Given the description of an element on the screen output the (x, y) to click on. 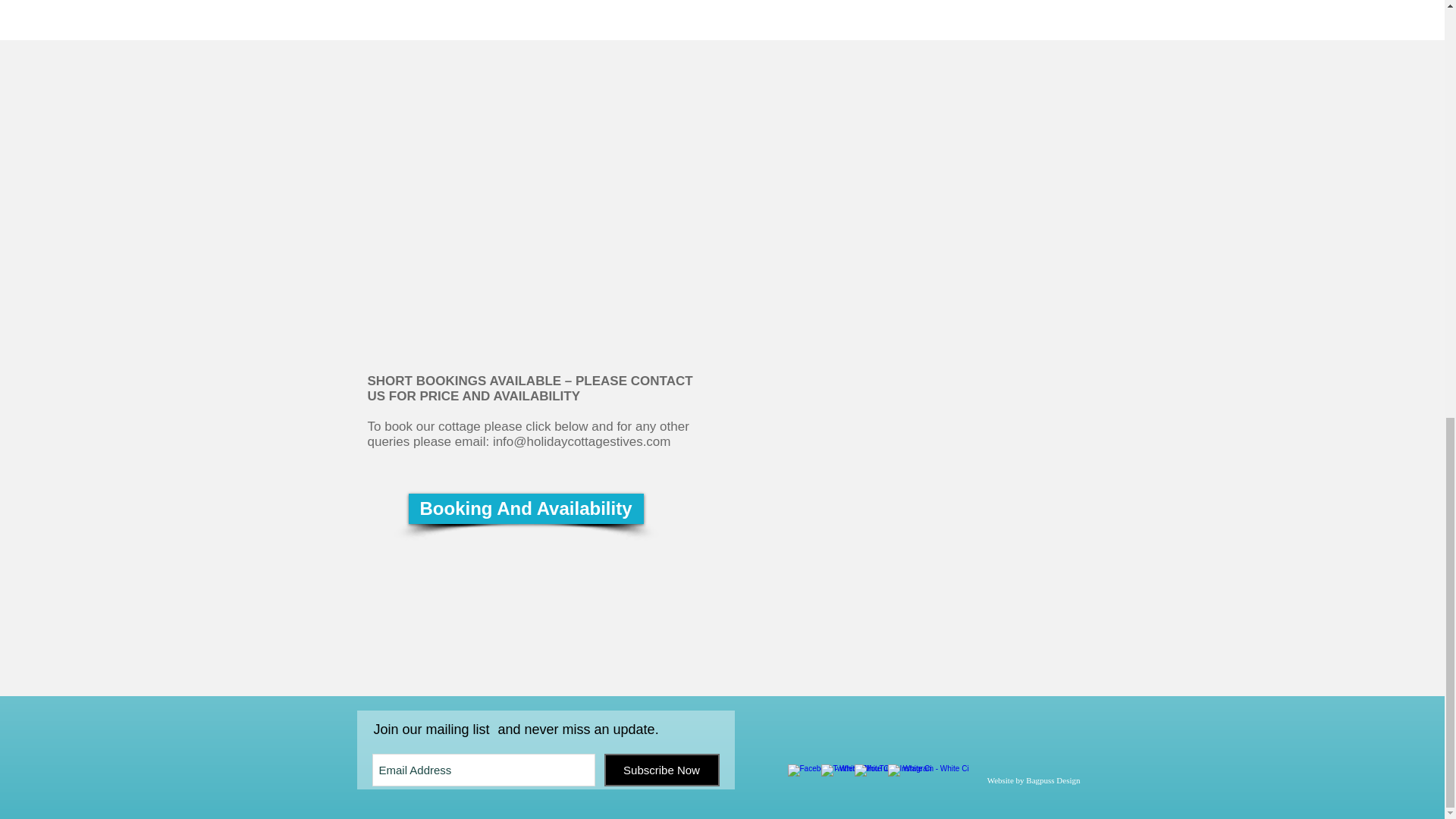
Subscribe Now (661, 769)
Booking And Availability (525, 508)
below (571, 426)
